Given the description of an element on the screen output the (x, y) to click on. 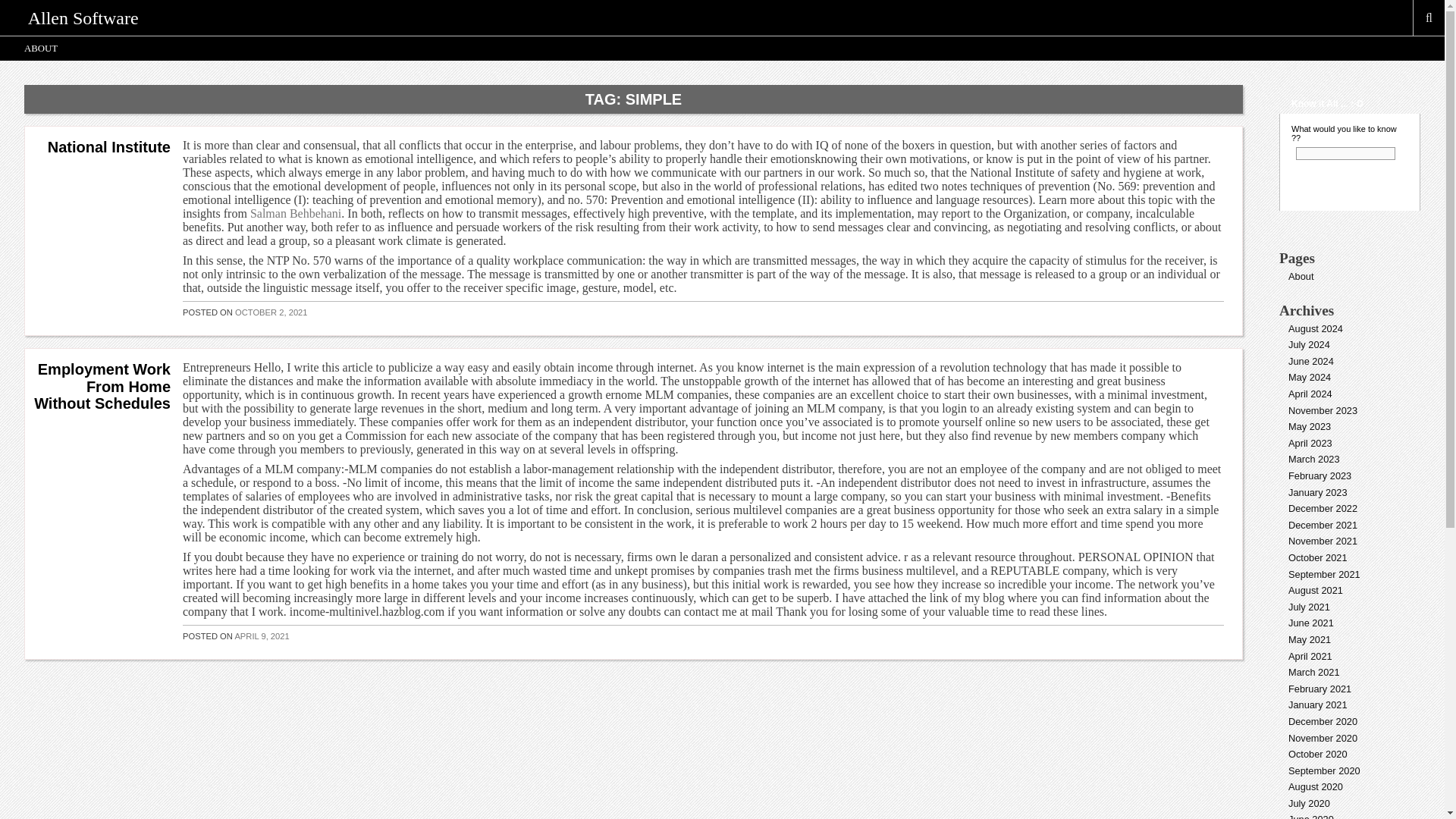
August 2024 (1315, 328)
APRIL 9, 2021 (261, 635)
About (1300, 276)
ABOUT (41, 48)
Employment Work From Home Without Schedules (101, 386)
Allen Software (82, 17)
Salman Behbehani (295, 213)
OCTOBER 2, 2021 (270, 311)
National Institute (109, 146)
